Given the description of an element on the screen output the (x, y) to click on. 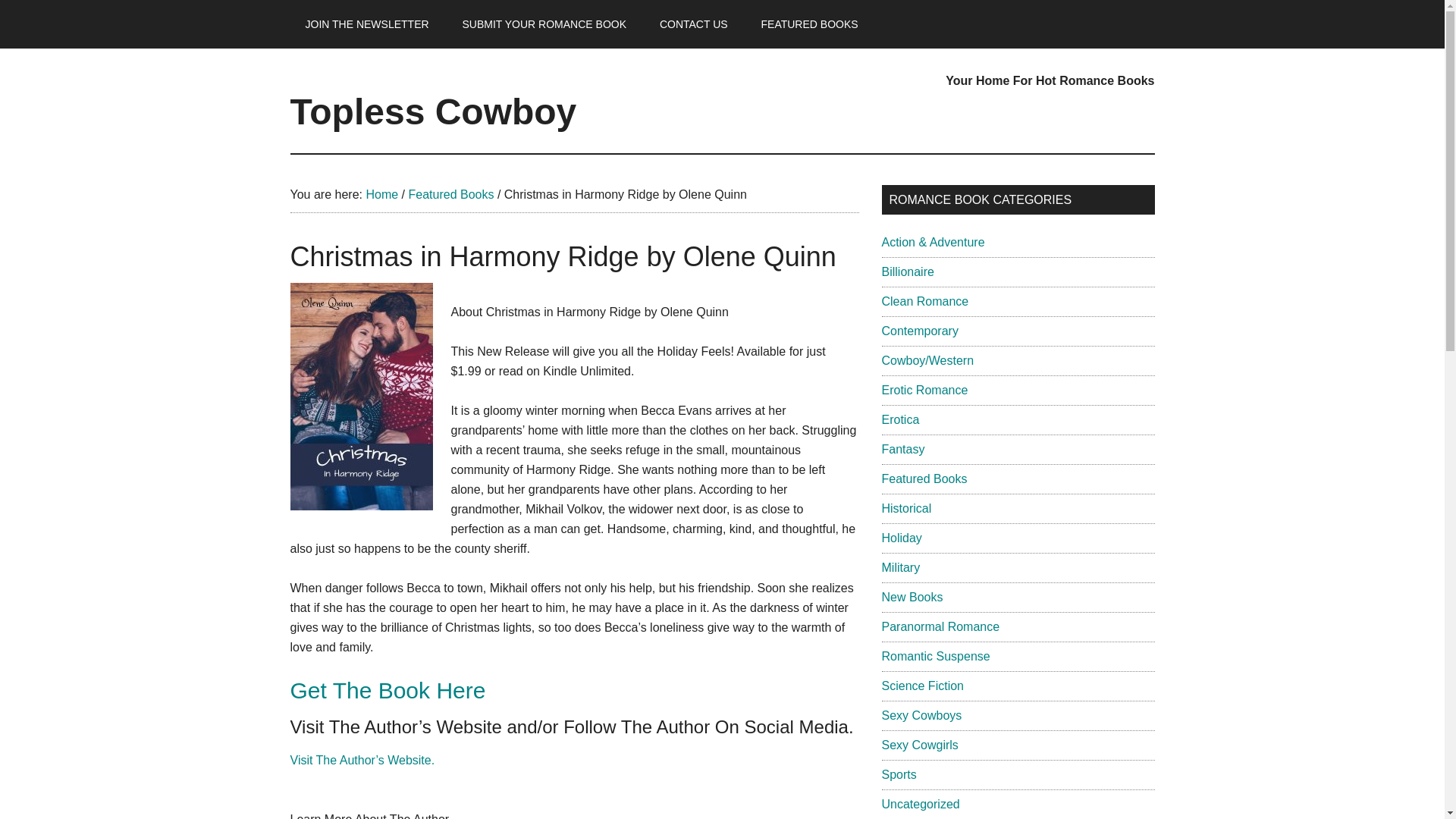
Holiday (900, 537)
JOIN THE NEWSLETTER (366, 24)
FEATURED BOOKS (809, 24)
Topless Cowboy (432, 111)
Romantic Suspense (935, 656)
Clean Romance (924, 300)
Erotica (899, 419)
Get The Book Here (386, 690)
Home (381, 194)
